Given the description of an element on the screen output the (x, y) to click on. 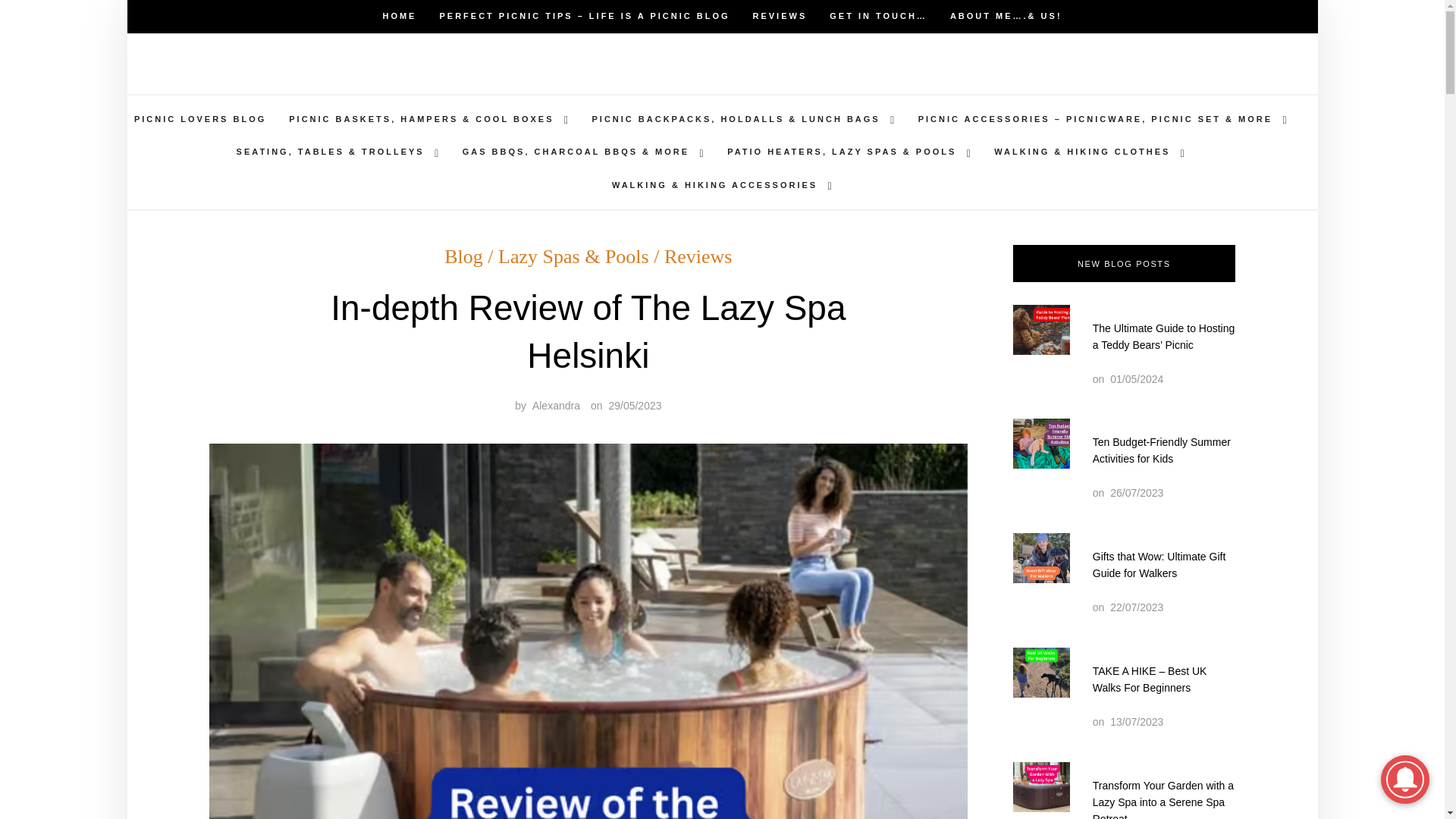
HOME (398, 16)
REVIEWS (779, 16)
Life is a Picnic (624, 77)
